Given the description of an element on the screen output the (x, y) to click on. 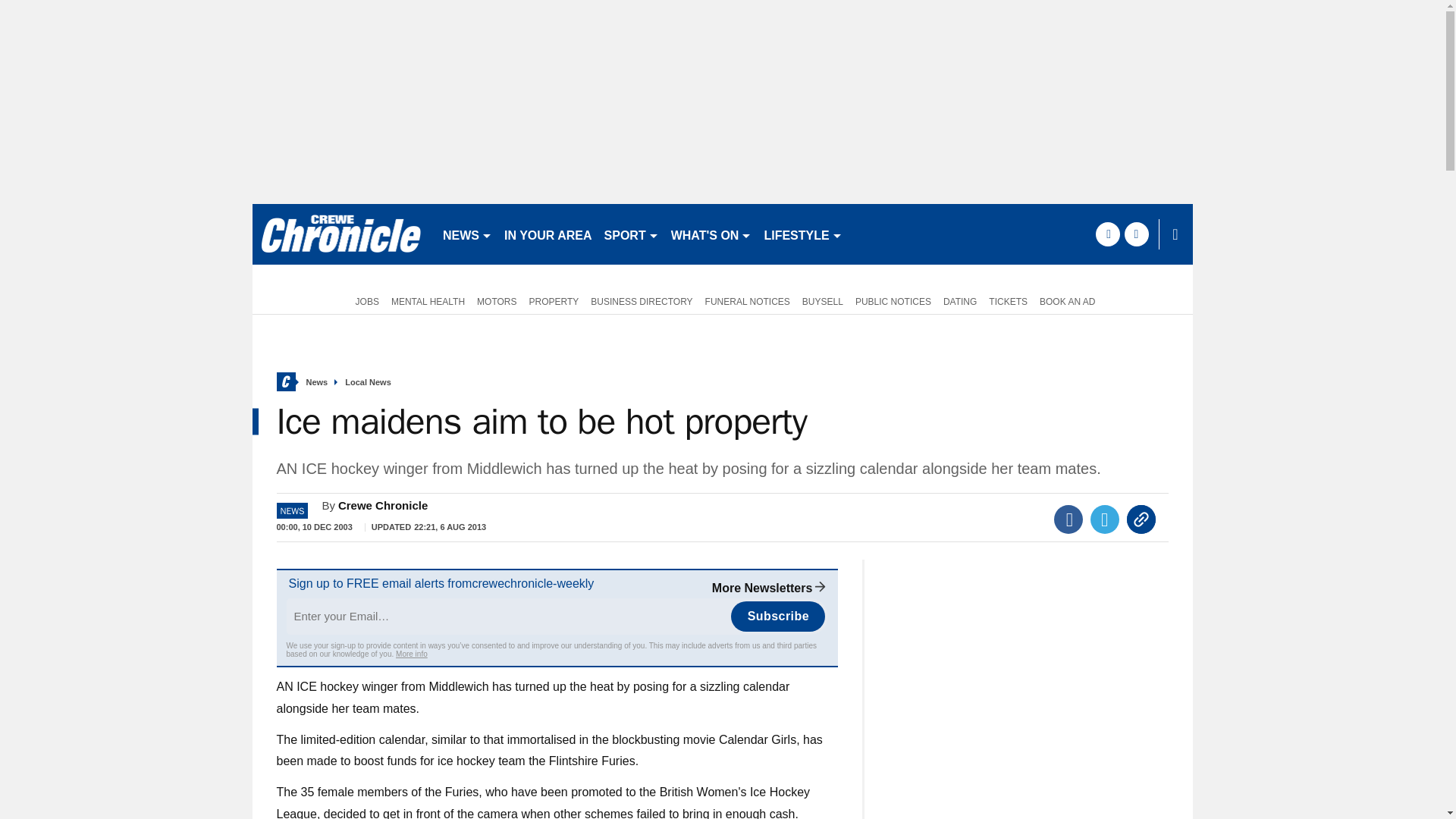
SPORT (631, 233)
crewechronicle (340, 233)
Twitter (1104, 519)
twitter (1136, 233)
Facebook (1068, 519)
NEWS (466, 233)
WHAT'S ON (711, 233)
LIFESTYLE (802, 233)
facebook (1106, 233)
IN YOUR AREA (547, 233)
